Given the description of an element on the screen output the (x, y) to click on. 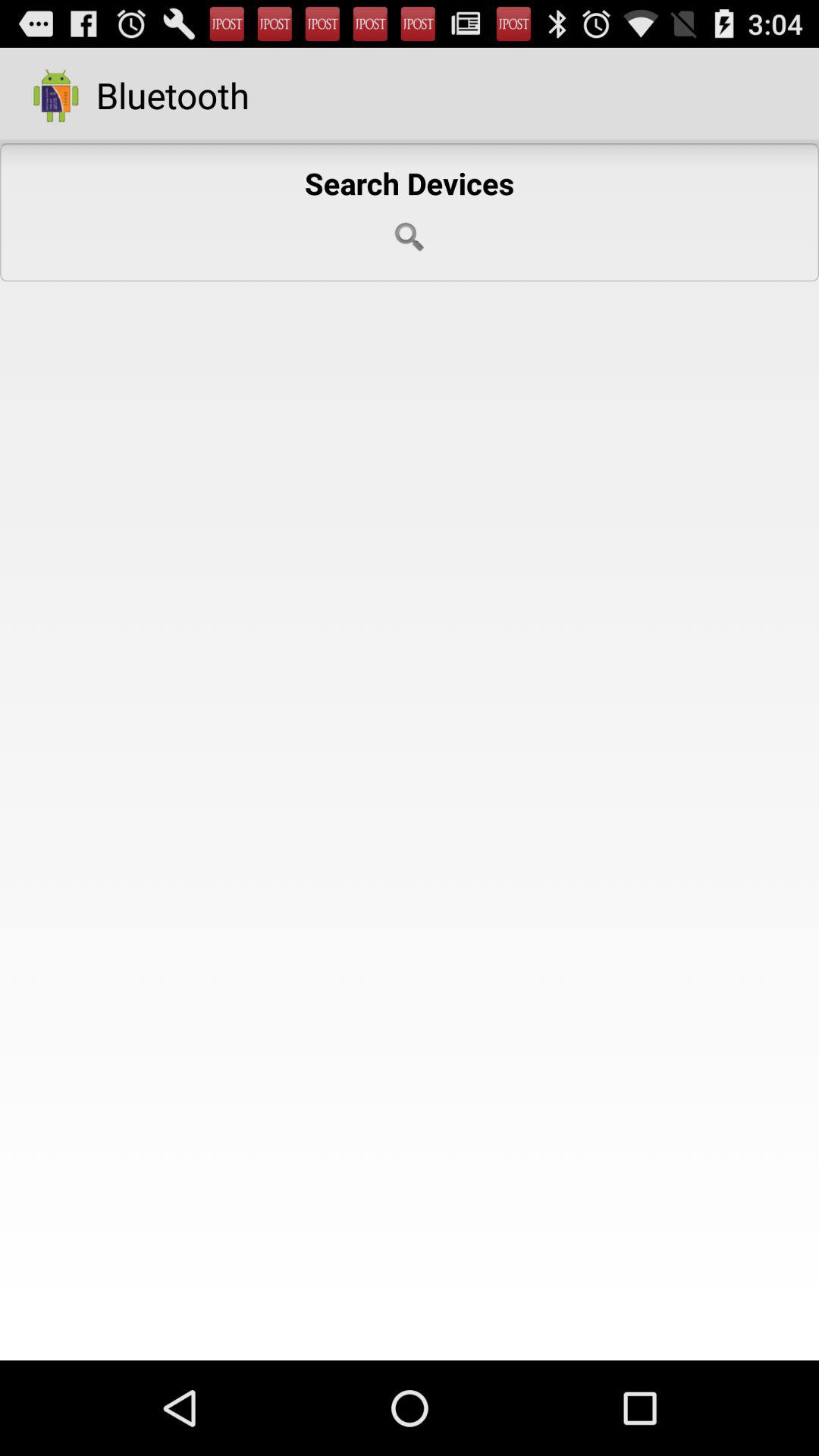
click the search devices item (409, 212)
